Given the description of an element on the screen output the (x, y) to click on. 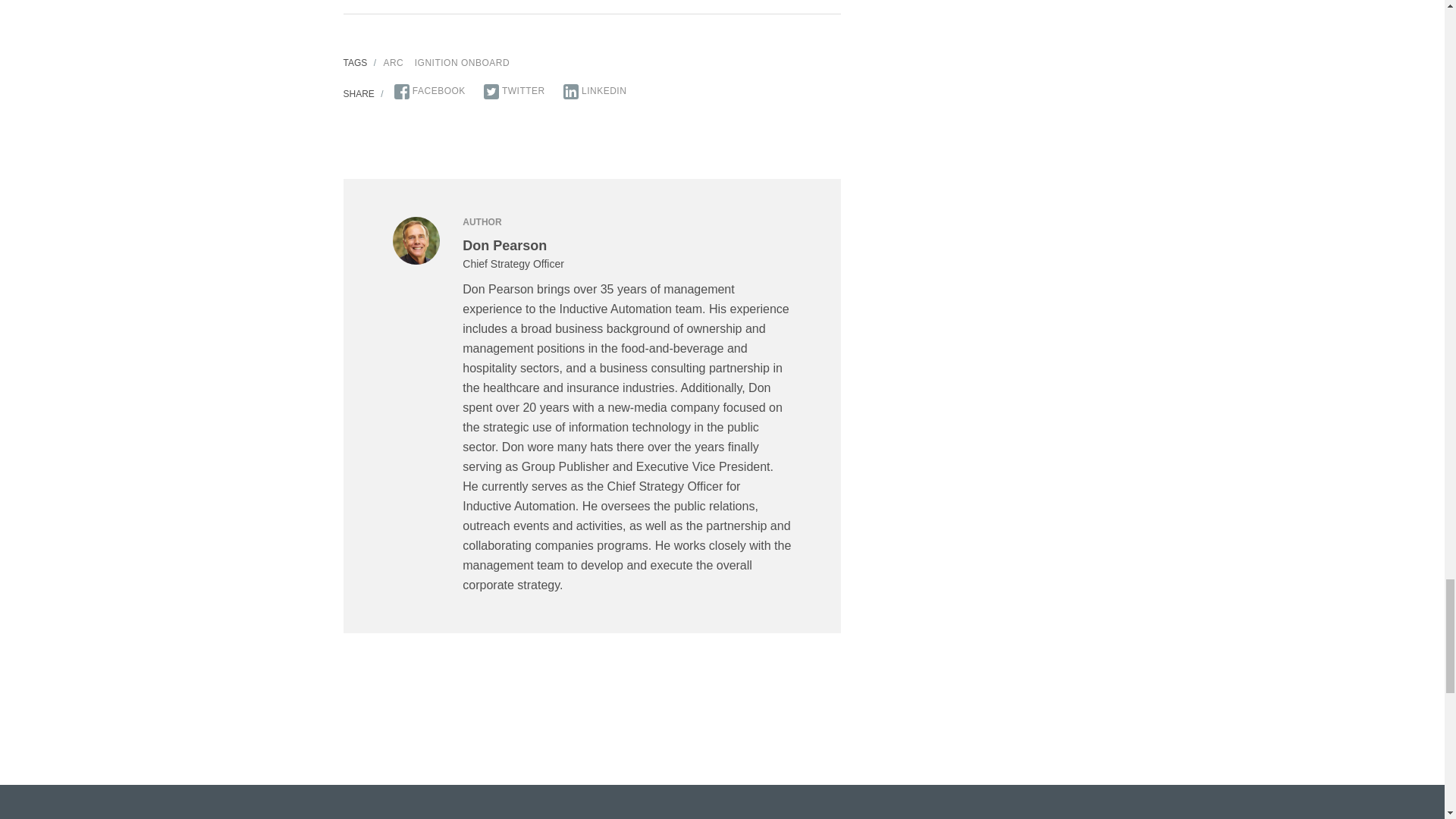
Facebook (429, 90)
Twitter (513, 90)
Linkedin (594, 90)
